Given the description of an element on the screen output the (x, y) to click on. 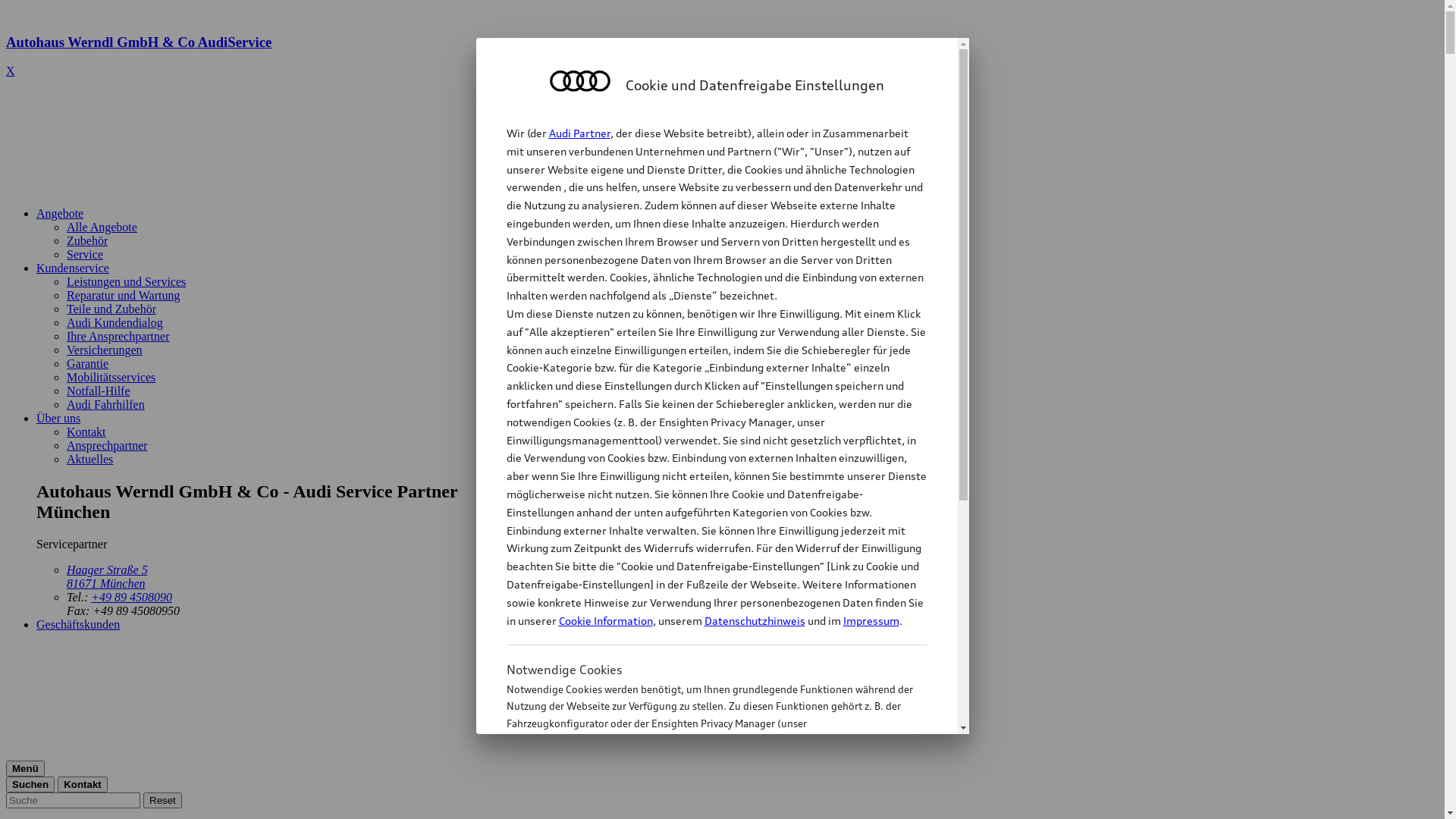
Versicherungen Element type: text (104, 349)
Datenschutzhinweis Element type: text (753, 620)
Aktuelles Element type: text (89, 458)
Autohaus Werndl GmbH & Co AudiService Element type: text (722, 56)
Audi Partner Element type: text (579, 132)
Alle Angebote Element type: text (101, 226)
Kontakt Element type: text (86, 431)
Impressum Element type: text (871, 620)
X Element type: text (10, 70)
Suchen Element type: text (30, 784)
Ansprechpartner Element type: text (106, 445)
Kontakt Element type: text (82, 784)
Cookie Information Element type: text (605, 620)
Angebote Element type: text (59, 213)
Audi Kundendialog Element type: text (114, 322)
Notfall-Hilfe Element type: text (98, 390)
Service Element type: text (84, 253)
+49 89 4508090 Element type: text (131, 596)
Audi Fahrhilfen Element type: text (105, 404)
Reparatur und Wartung Element type: text (122, 294)
Leistungen und Services Element type: text (125, 281)
Kundenservice Element type: text (72, 267)
Cookie Information Element type: text (700, 798)
Garantie Element type: text (87, 363)
Ihre Ansprechpartner Element type: text (117, 335)
